Given the description of an element on the screen output the (x, y) to click on. 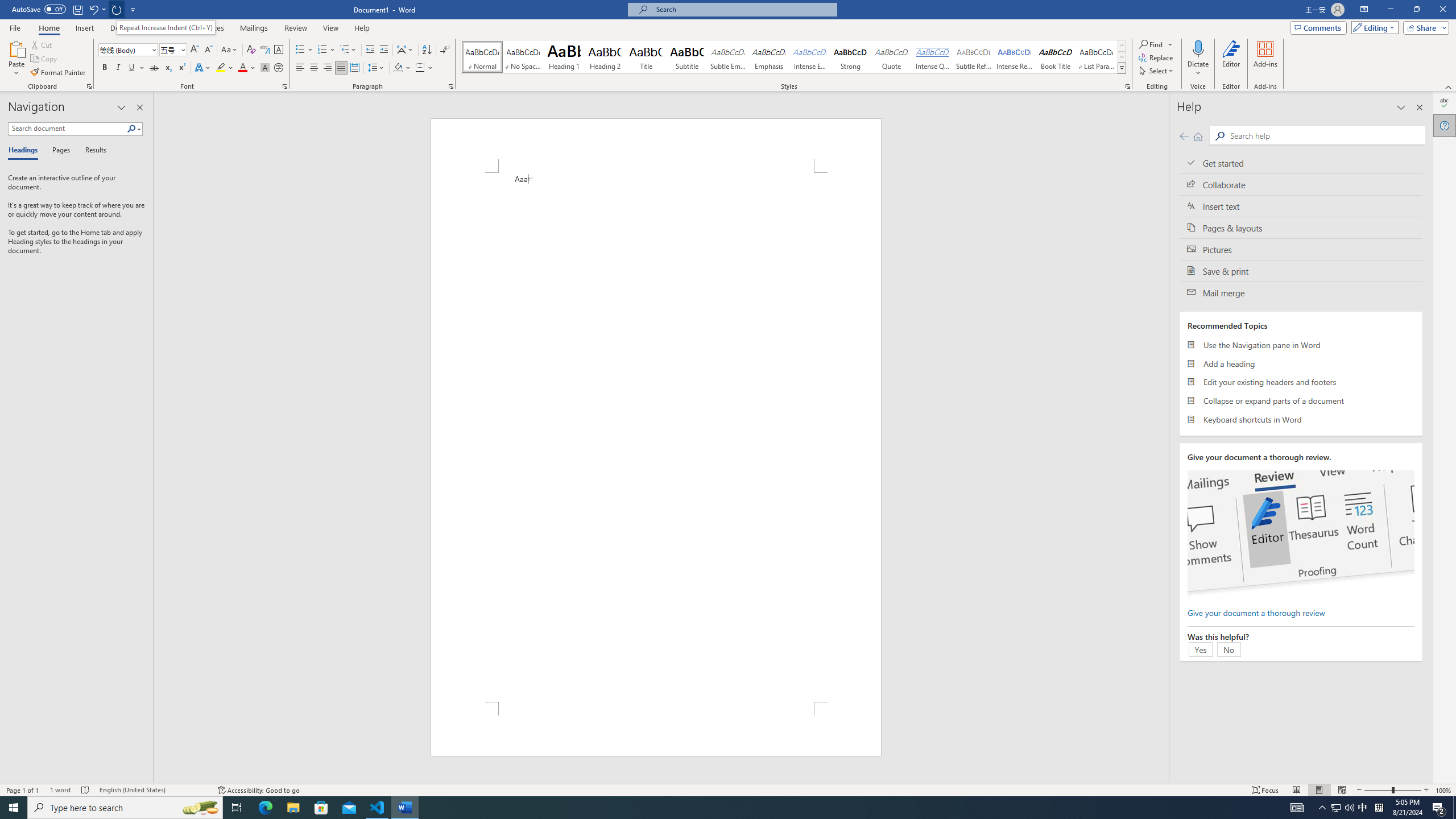
Mail merge (1300, 292)
Intense Reference (1014, 56)
Emphasis (768, 56)
Page 1 content (655, 436)
